Given the description of an element on the screen output the (x, y) to click on. 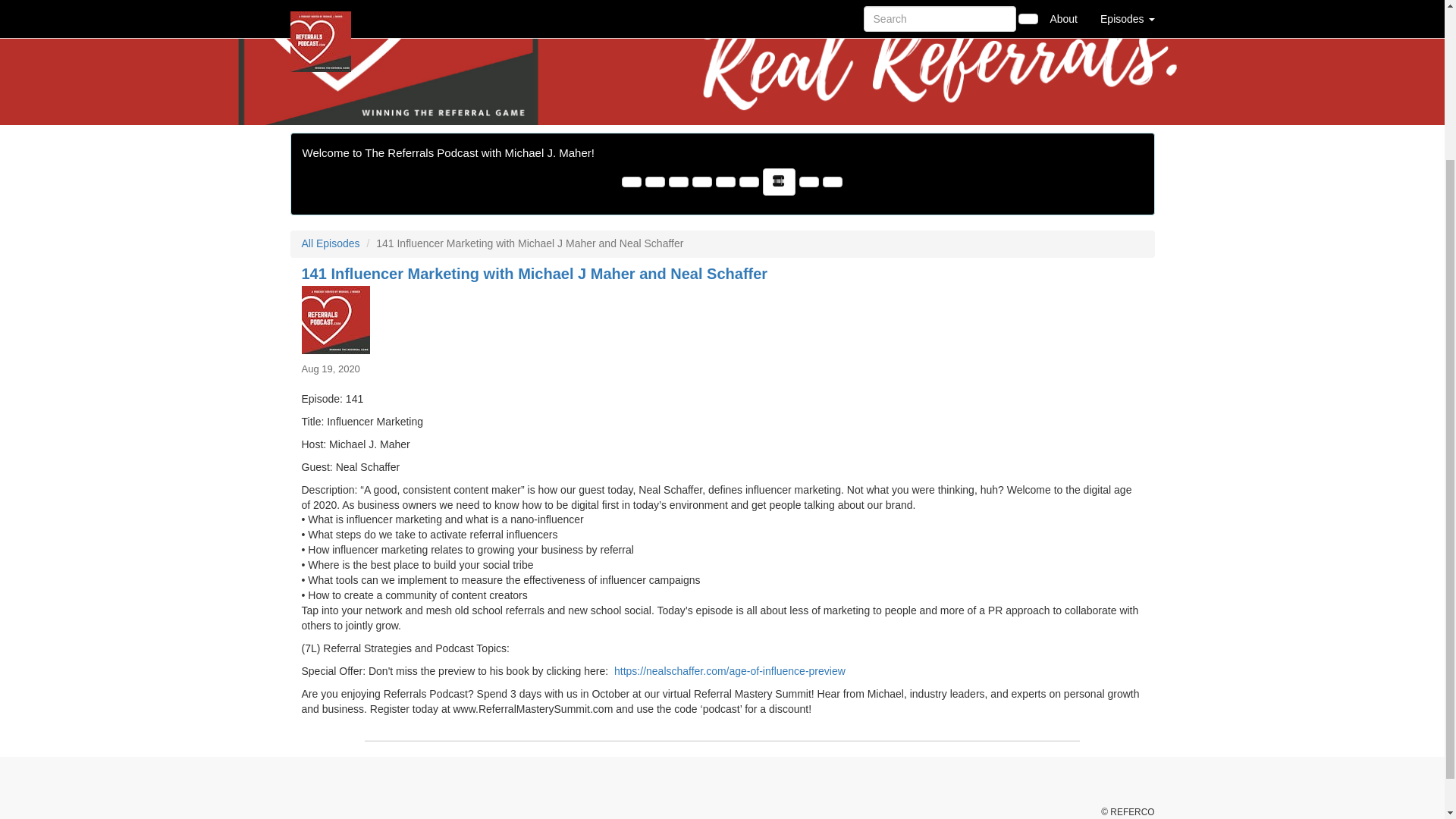
Age of Influence Preview (729, 671)
